Given the description of an element on the screen output the (x, y) to click on. 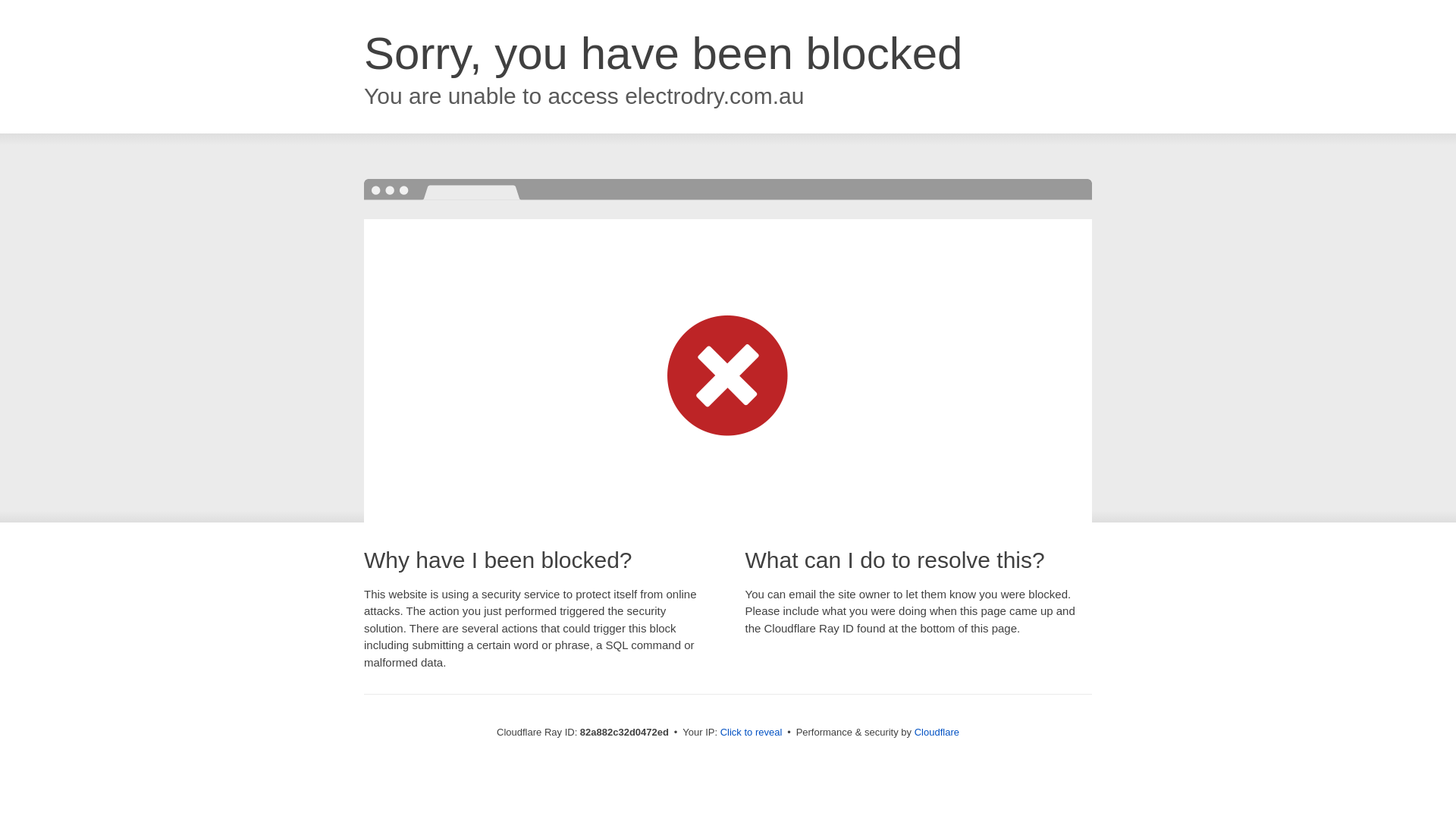
Cloudflare Element type: text (936, 731)
Click to reveal Element type: text (751, 732)
